Given the description of an element on the screen output the (x, y) to click on. 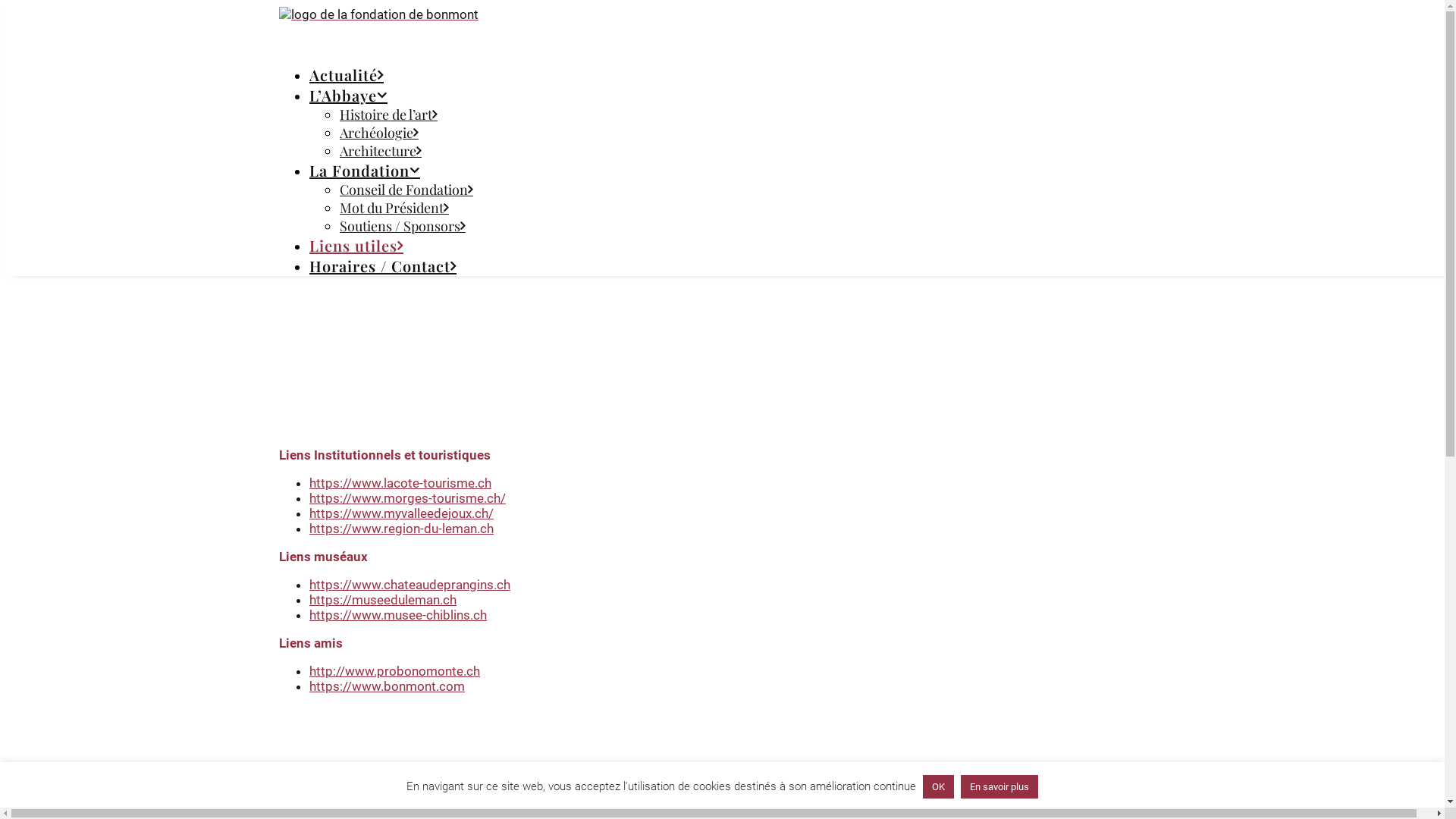
https://www.bonmont.com Element type: text (386, 685)
https://www.morges-tourisme.ch/ Element type: text (407, 497)
Conseil de Fondation Element type: text (406, 189)
En savoir plus Element type: text (999, 786)
Liens utiles Element type: text (356, 245)
OK Element type: text (937, 786)
https://www.myvalleedejoux.ch/ Element type: text (401, 512)
La Fondation Element type: text (364, 170)
Horaires / Contact Element type: text (382, 265)
https://www.musee-chiblins.ch Element type: text (397, 614)
https://www.lacote-tourisme.ch Element type: text (400, 482)
https://www.region-du-leman.ch Element type: text (401, 528)
https://museeduleman.ch Element type: text (382, 599)
Architecture Element type: text (380, 150)
https://www.chateaudeprangins.ch Element type: text (409, 584)
http://www.probonomonte.ch Element type: text (394, 670)
Soutiens / Sponsors Element type: text (402, 225)
